Given the description of an element on the screen output the (x, y) to click on. 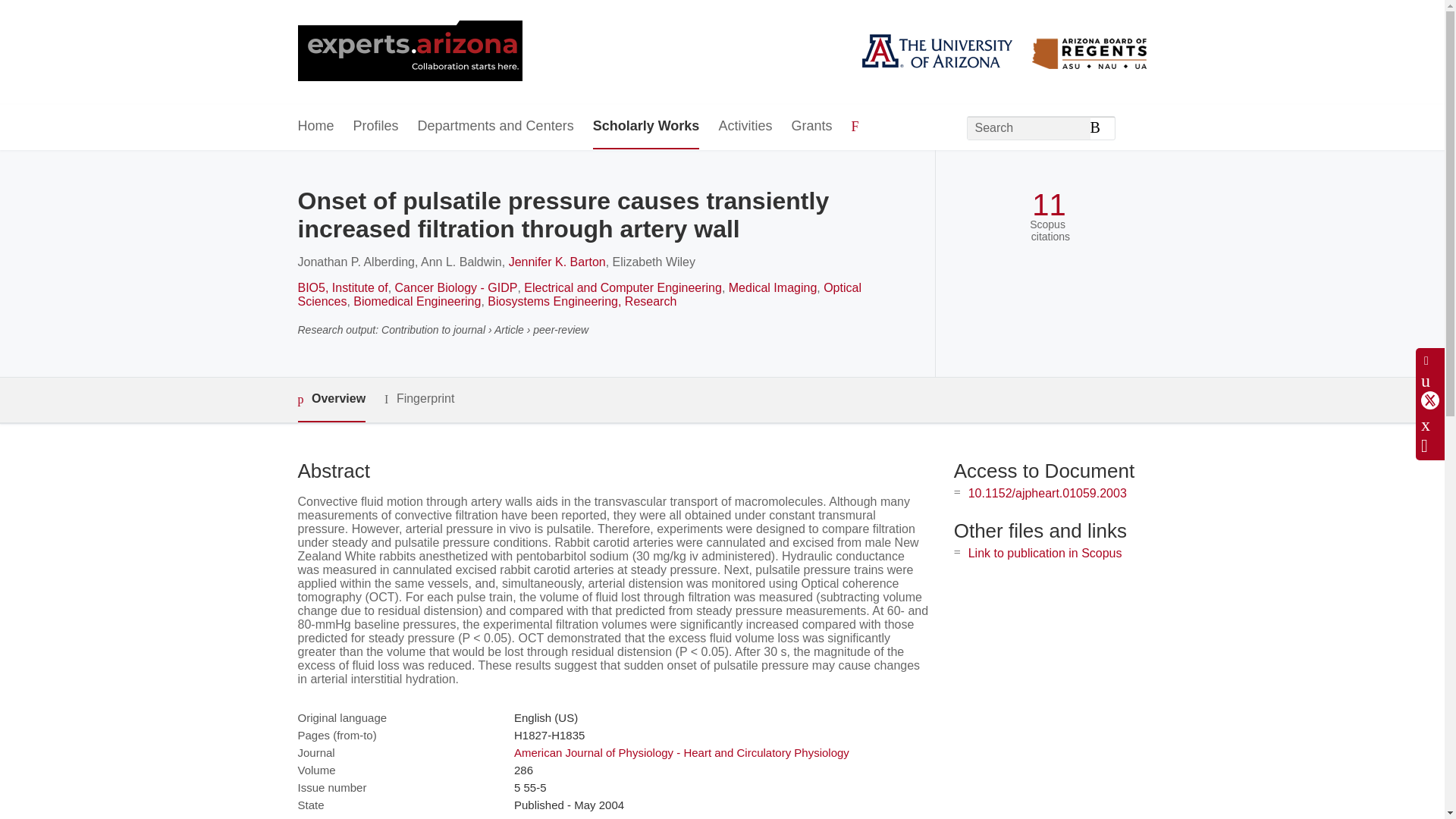
Scholarly Works (646, 126)
Overview (331, 399)
University of Arizona Home (409, 52)
Profiles (375, 126)
Fingerprint (419, 398)
Optical Sciences (578, 294)
Biosystems Engineering, Research (582, 300)
11 (1048, 204)
Jennifer K. Barton (556, 261)
